Given the description of an element on the screen output the (x, y) to click on. 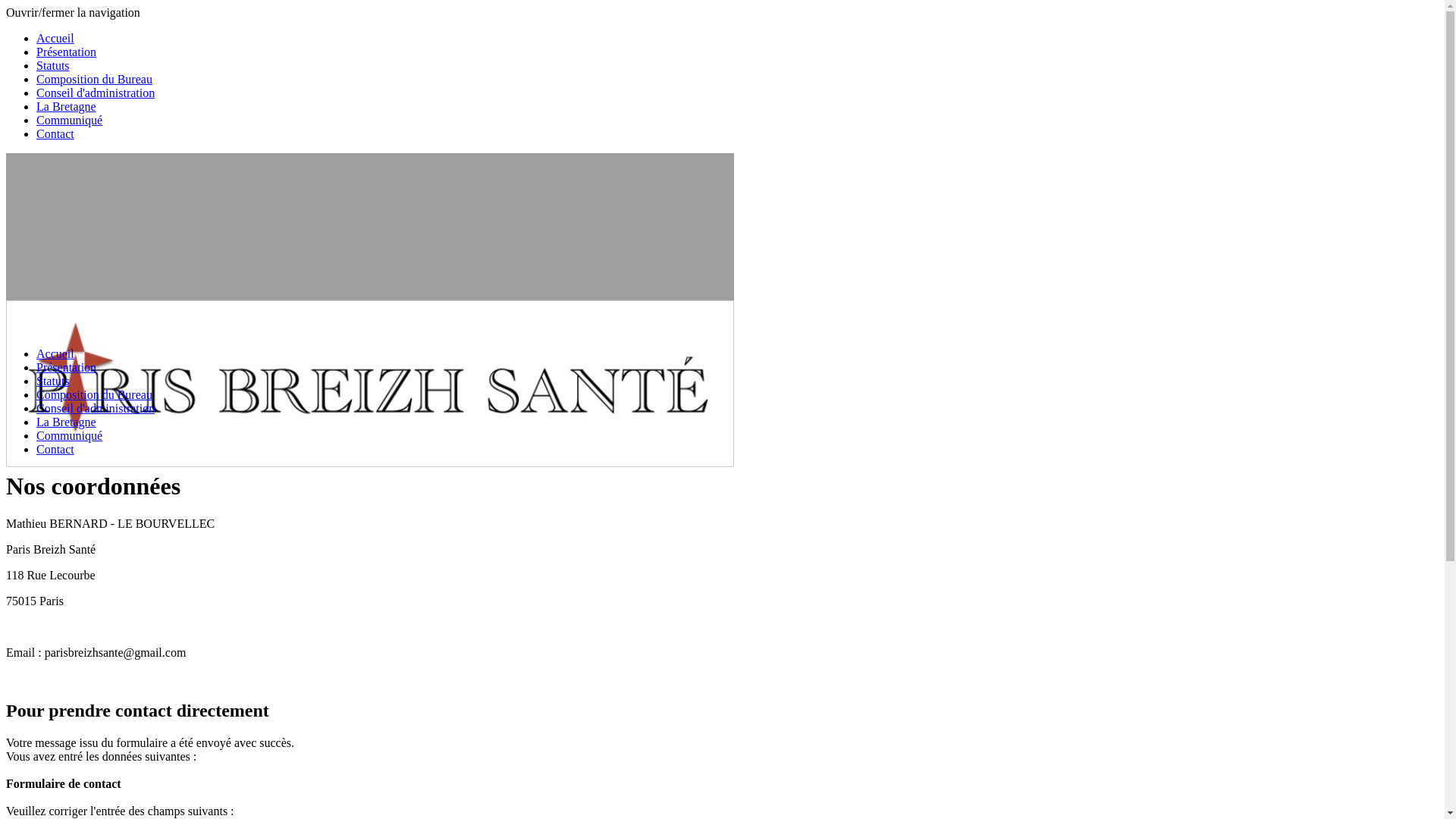
Composition du Bureau Element type: text (94, 78)
Contact Element type: text (55, 448)
Ouvrir/fermer la navigation Element type: text (73, 12)
Accueil Element type: text (55, 353)
Conseil d'administration Element type: text (95, 92)
La Bretagne Element type: text (66, 106)
La Bretagne Element type: text (66, 421)
Accueil Element type: text (55, 37)
Conseil d'administration Element type: text (95, 407)
Composition du Bureau Element type: text (94, 394)
Statuts Element type: text (52, 65)
Statuts Element type: text (52, 380)
Contact Element type: text (55, 133)
